Given the description of an element on the screen output the (x, y) to click on. 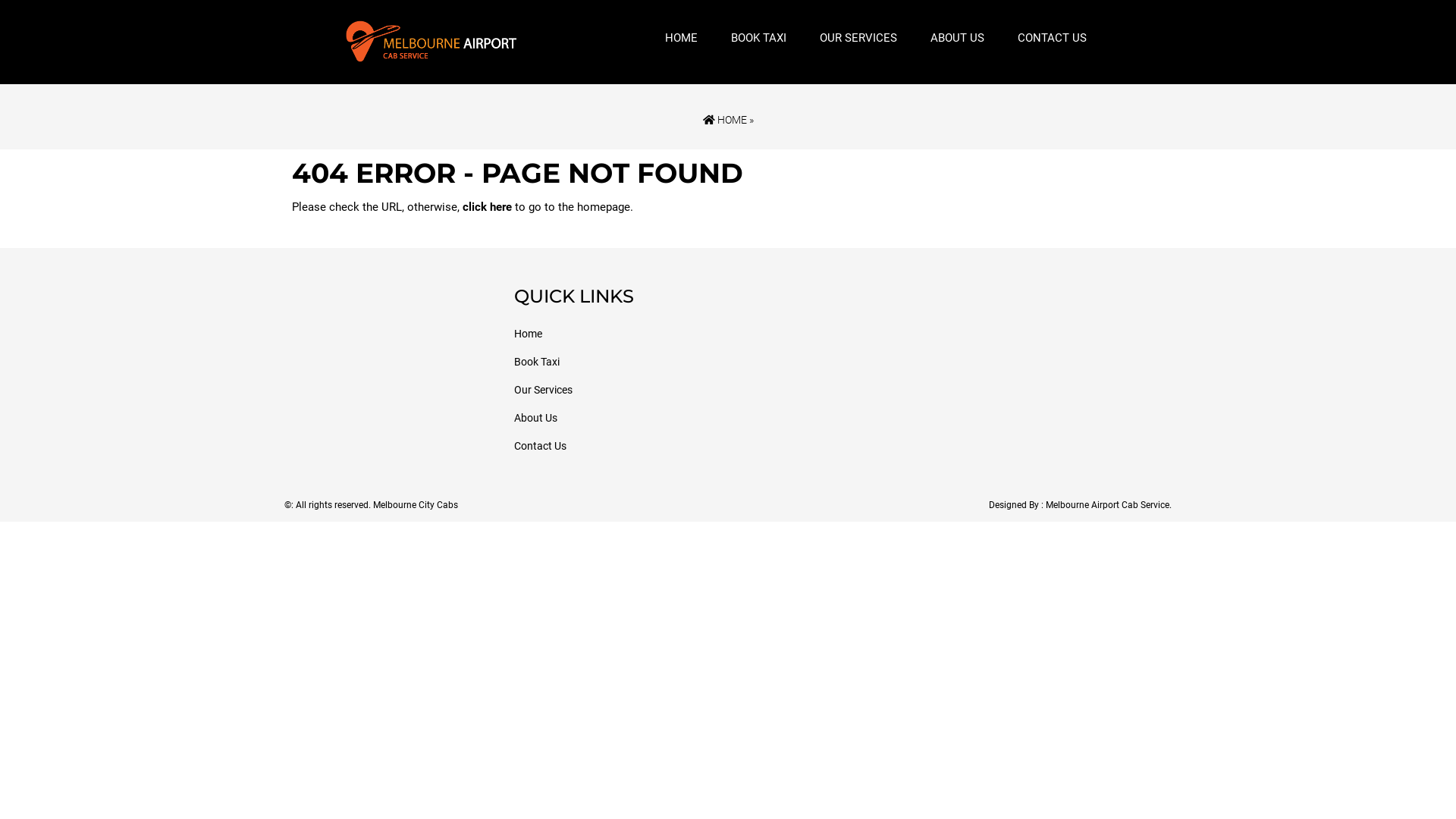
OUR SERVICES Element type: text (858, 39)
Book Taxi Element type: text (536, 361)
Our Services Element type: text (543, 389)
click here Element type: text (486, 206)
About Us Element type: text (535, 417)
Contact Us Element type: text (540, 445)
CONTACT US Element type: text (1052, 39)
Melbourne City Cabs Element type: text (415, 504)
Home Element type: text (528, 333)
HOME Element type: text (681, 39)
HOME Element type: text (724, 119)
BOOK TAXI Element type: text (758, 39)
ABOUT US Element type: text (956, 39)
